Given the description of an element on the screen output the (x, y) to click on. 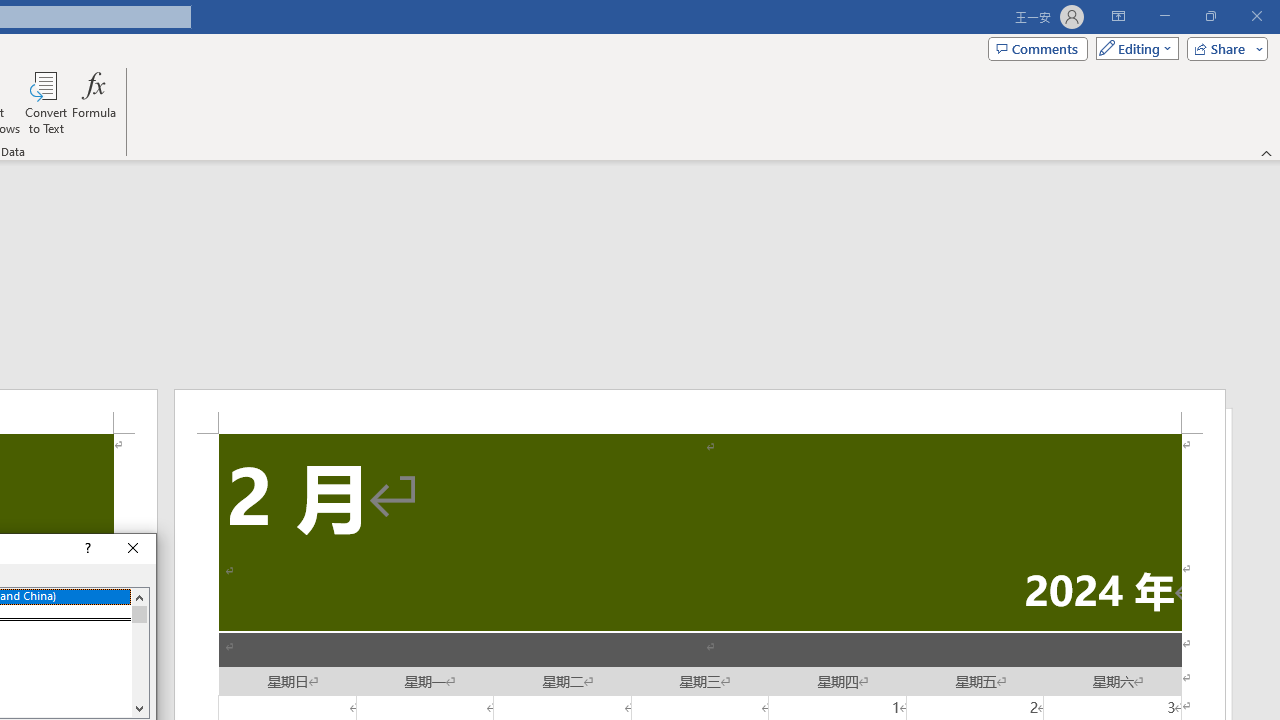
AutomationID: 21 (139, 652)
Line down (139, 708)
Formula... (94, 102)
